Given the description of an element on the screen output the (x, y) to click on. 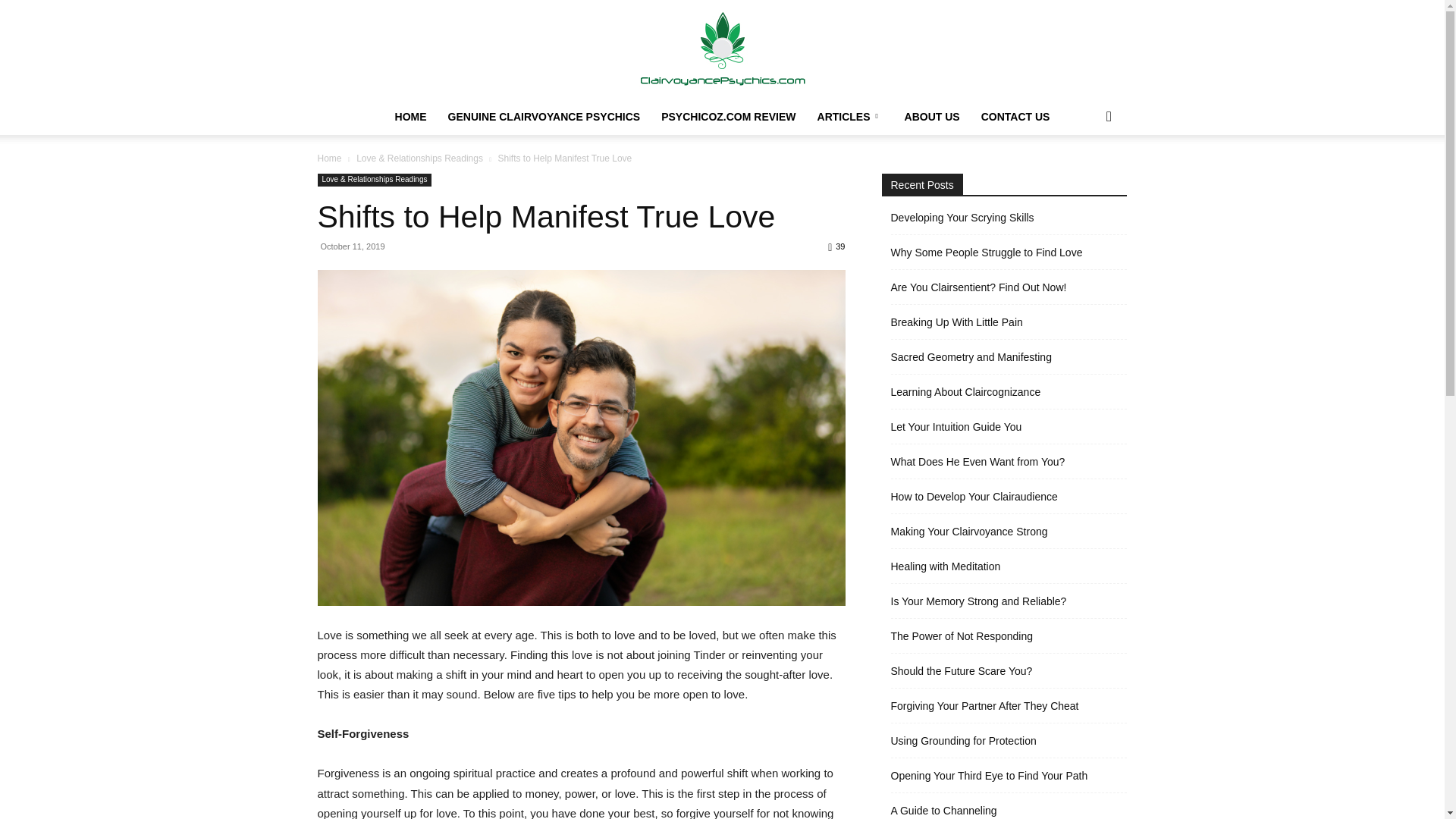
ABOUT US (932, 116)
ARTICLES (849, 116)
Home (328, 158)
GENUINE CLAIRVOYANCE PSYCHICS (544, 116)
Search (1085, 177)
PSYCHICOZ.COM REVIEW (728, 116)
HOME (411, 116)
CONTACT US (1016, 116)
